Given the description of an element on the screen output the (x, y) to click on. 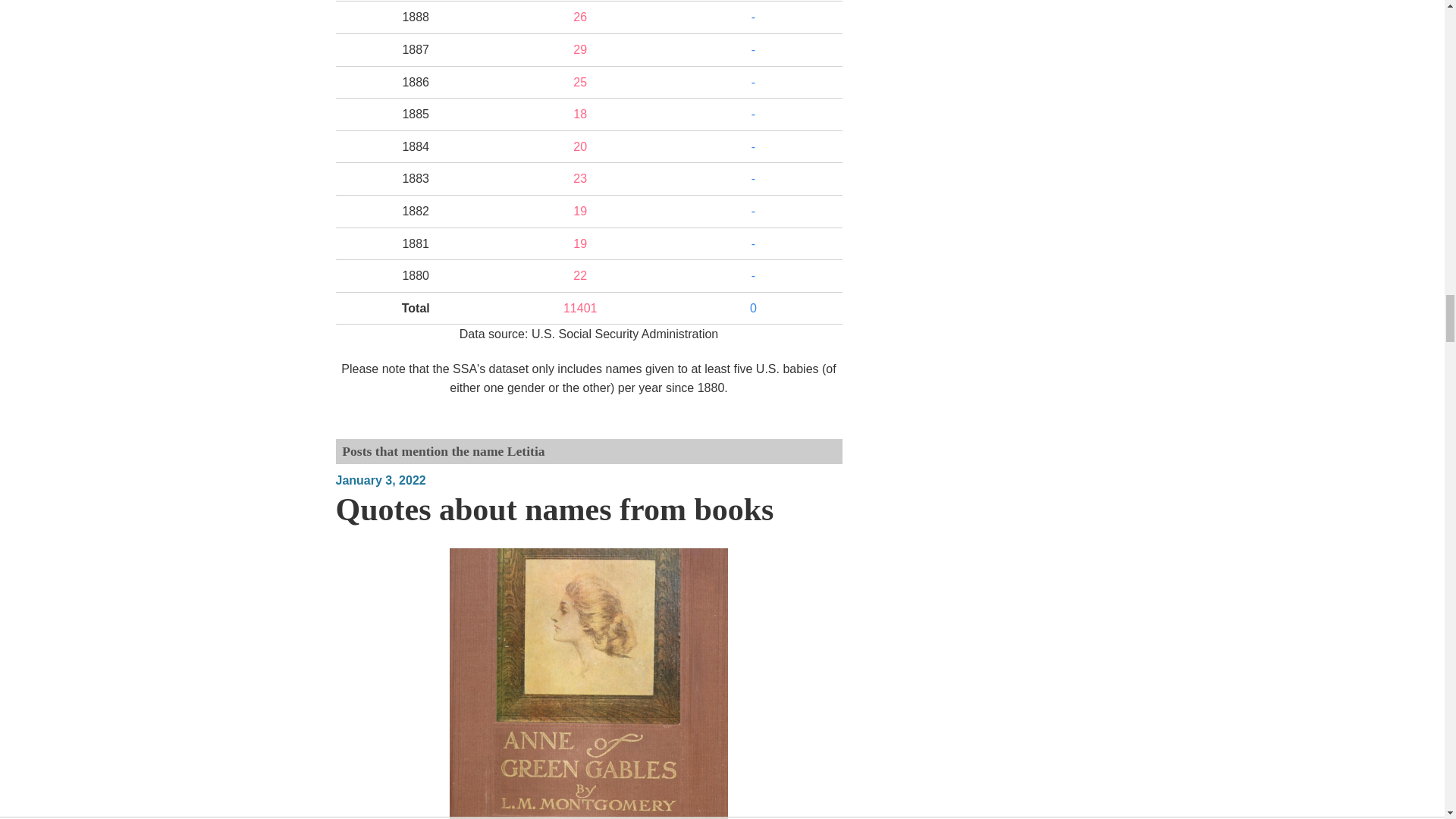
January 3, 2022 (379, 480)
Quotes about names from books (553, 509)
